Given the description of an element on the screen output the (x, y) to click on. 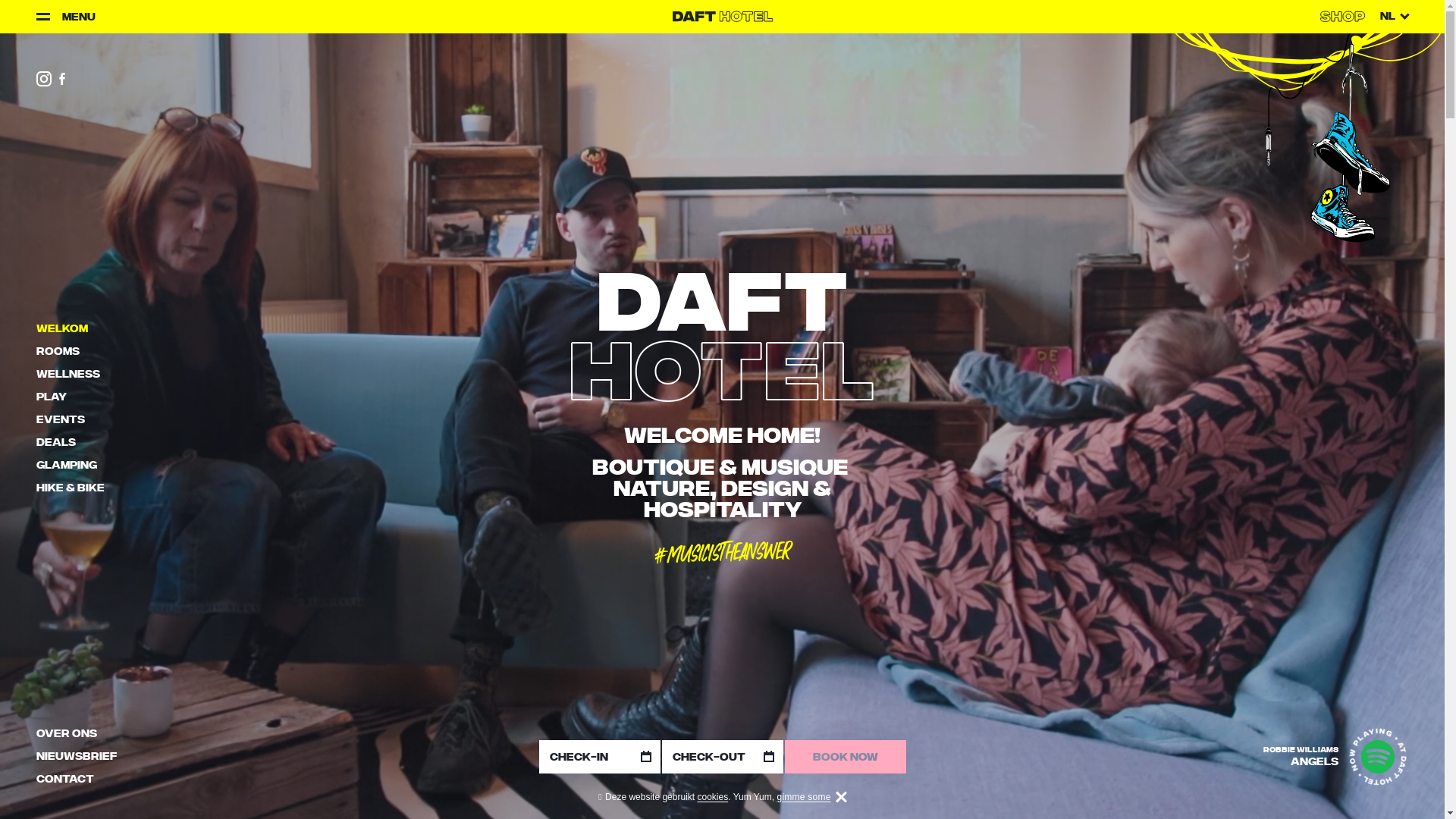
Deals Element type: text (55, 443)
Glamping Element type: text (66, 466)
Schrijf me in Element type: text (834, 448)
Play Element type: text (51, 397)
Contact Element type: text (65, 779)
gimme some Element type: text (803, 796)
Hike & Bike Element type: text (70, 488)
Welkom Element type: text (61, 329)
Rooms Element type: text (57, 352)
Nieuwsbrief Element type: text (76, 757)
cookies Element type: text (712, 796)
Events Element type: text (60, 420)
Over ons Element type: text (66, 734)
Wellness Element type: text (68, 375)
Robbie Williams
Angels Element type: text (1300, 757)
Book Now
Book Now Book Now Book Now Book Now Book Now Element type: text (844, 756)
